Given the description of an element on the screen output the (x, y) to click on. 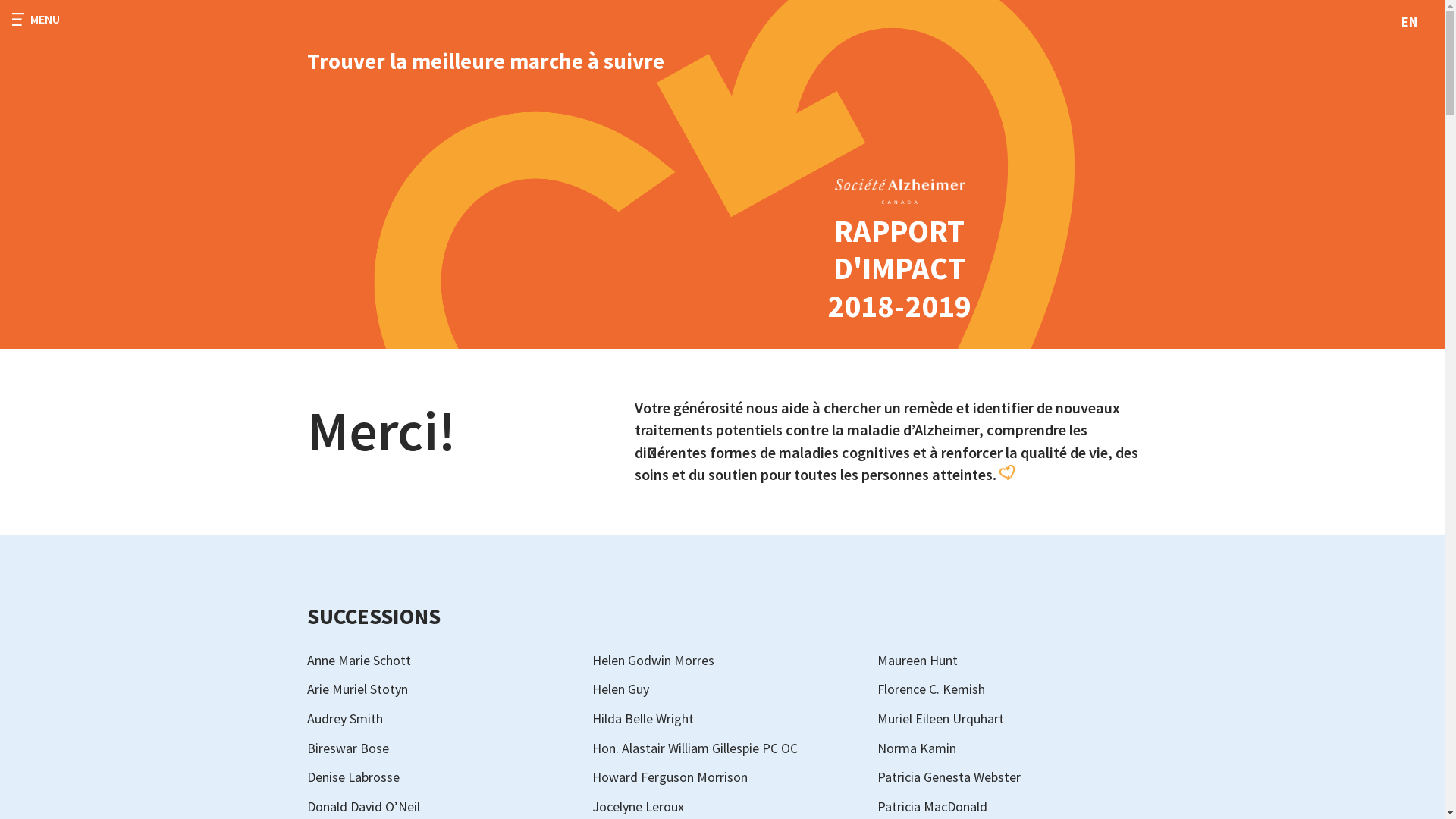
EN Element type: text (1405, 21)
MENU Element type: text (42, 19)
